Given the description of an element on the screen output the (x, y) to click on. 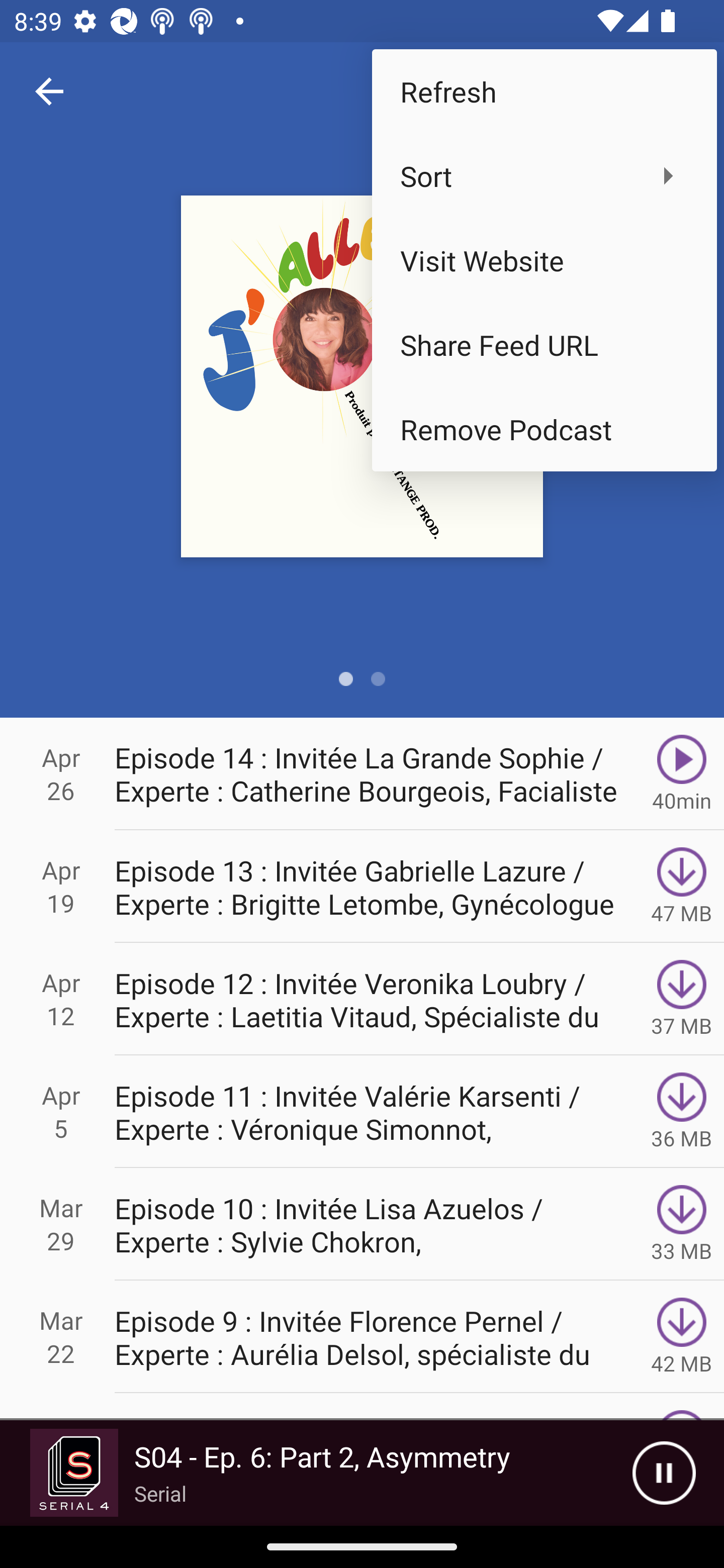
Refresh (544, 90)
Sort (544, 175)
Visit Website (544, 259)
Share Feed URL (544, 344)
Remove Podcast (544, 429)
